Given the description of an element on the screen output the (x, y) to click on. 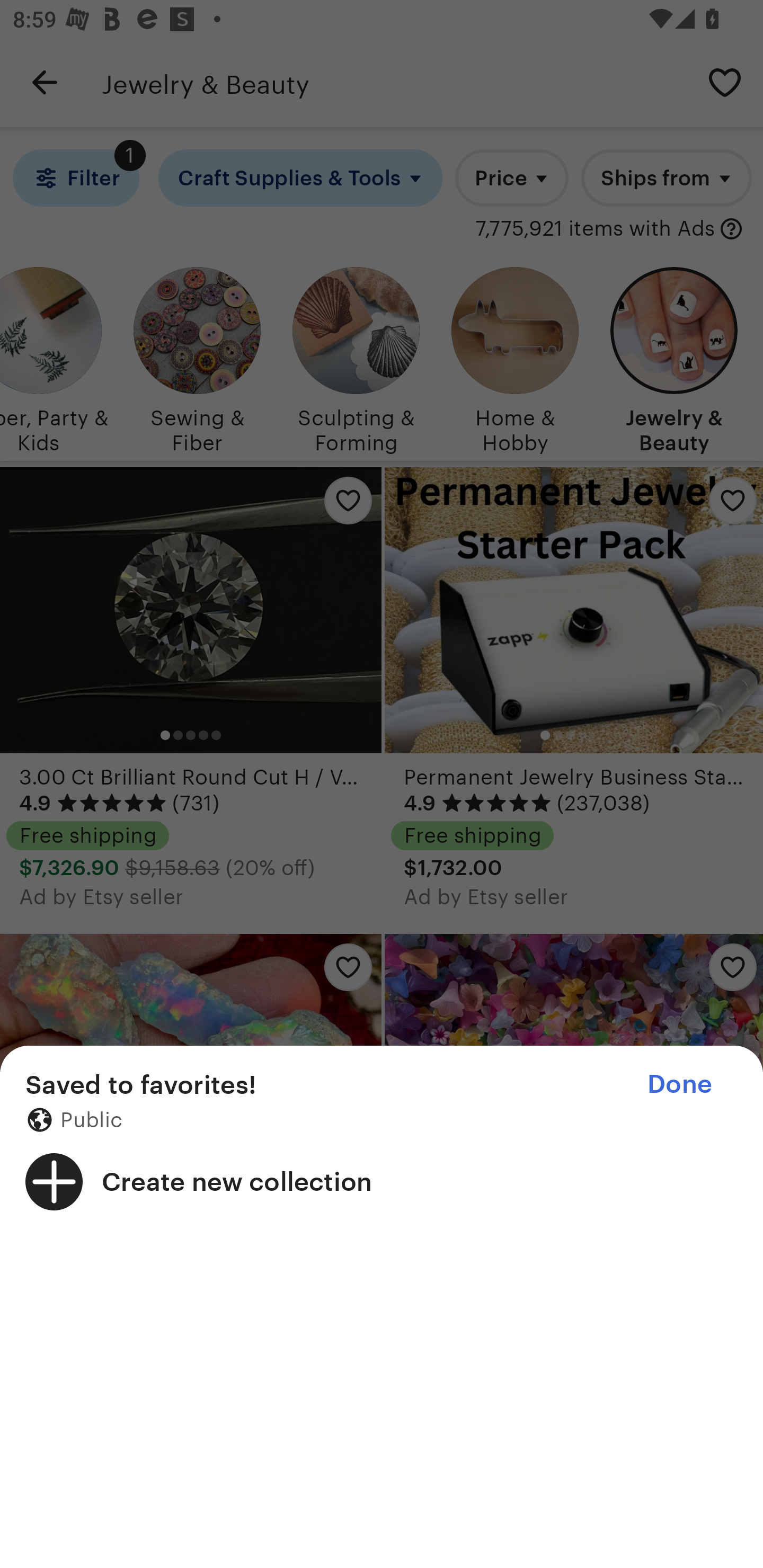
Done (679, 1083)
Create new collection (381, 1181)
